Given the description of an element on the screen output the (x, y) to click on. 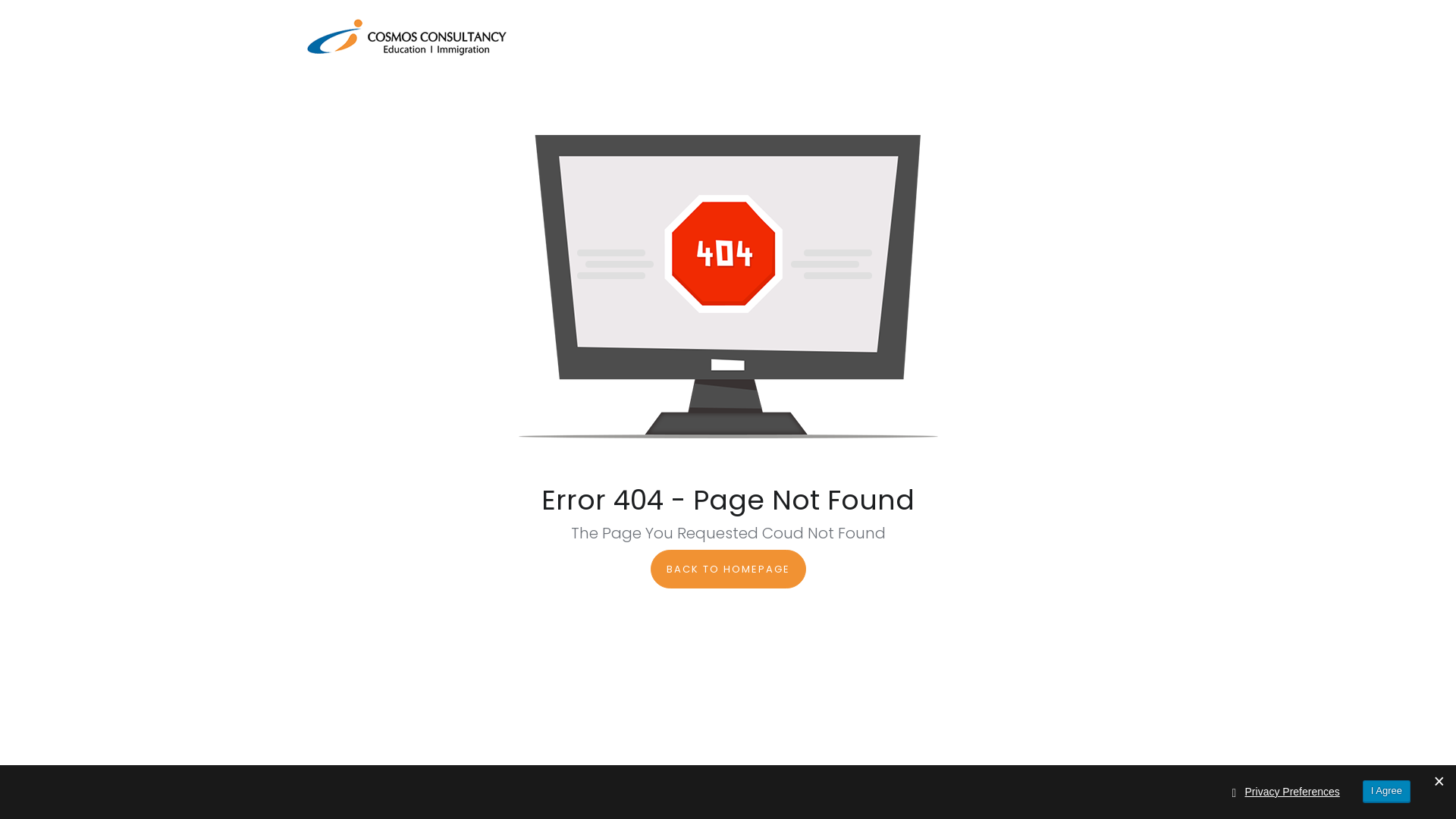
BACK TO HOMEPAGE Element type: text (728, 568)
Privacy Preferences Element type: text (1292, 791)
I Agree Element type: text (1386, 791)
